Given the description of an element on the screen output the (x, y) to click on. 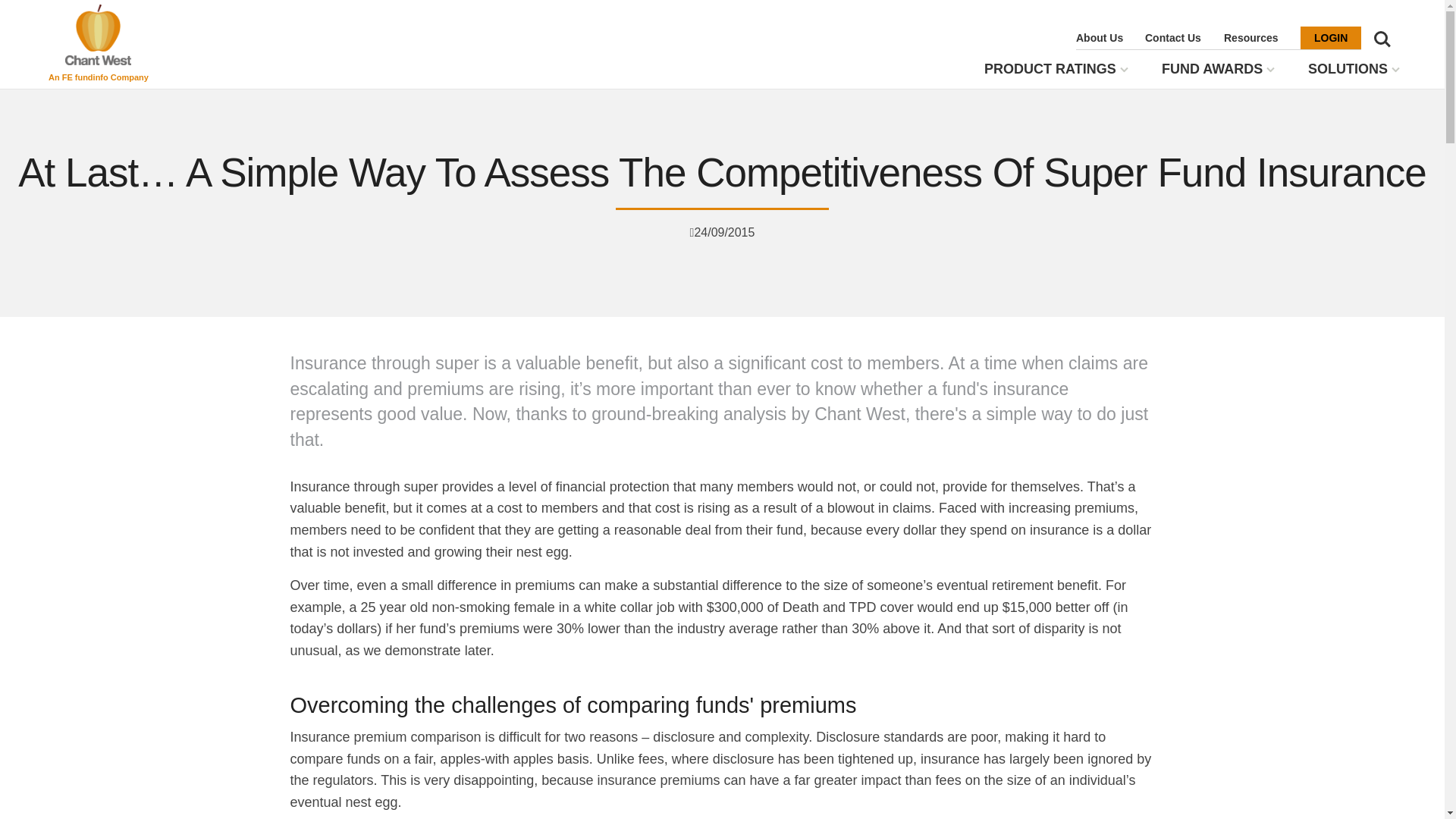
PRODUCT RATINGS (1050, 69)
Search (1382, 39)
FUND AWARDS (1211, 69)
Contact Us (1172, 37)
LOGIN (1330, 37)
About Us (1098, 37)
SOLUTIONS (1347, 69)
Resources (1251, 37)
